Given the description of an element on the screen output the (x, y) to click on. 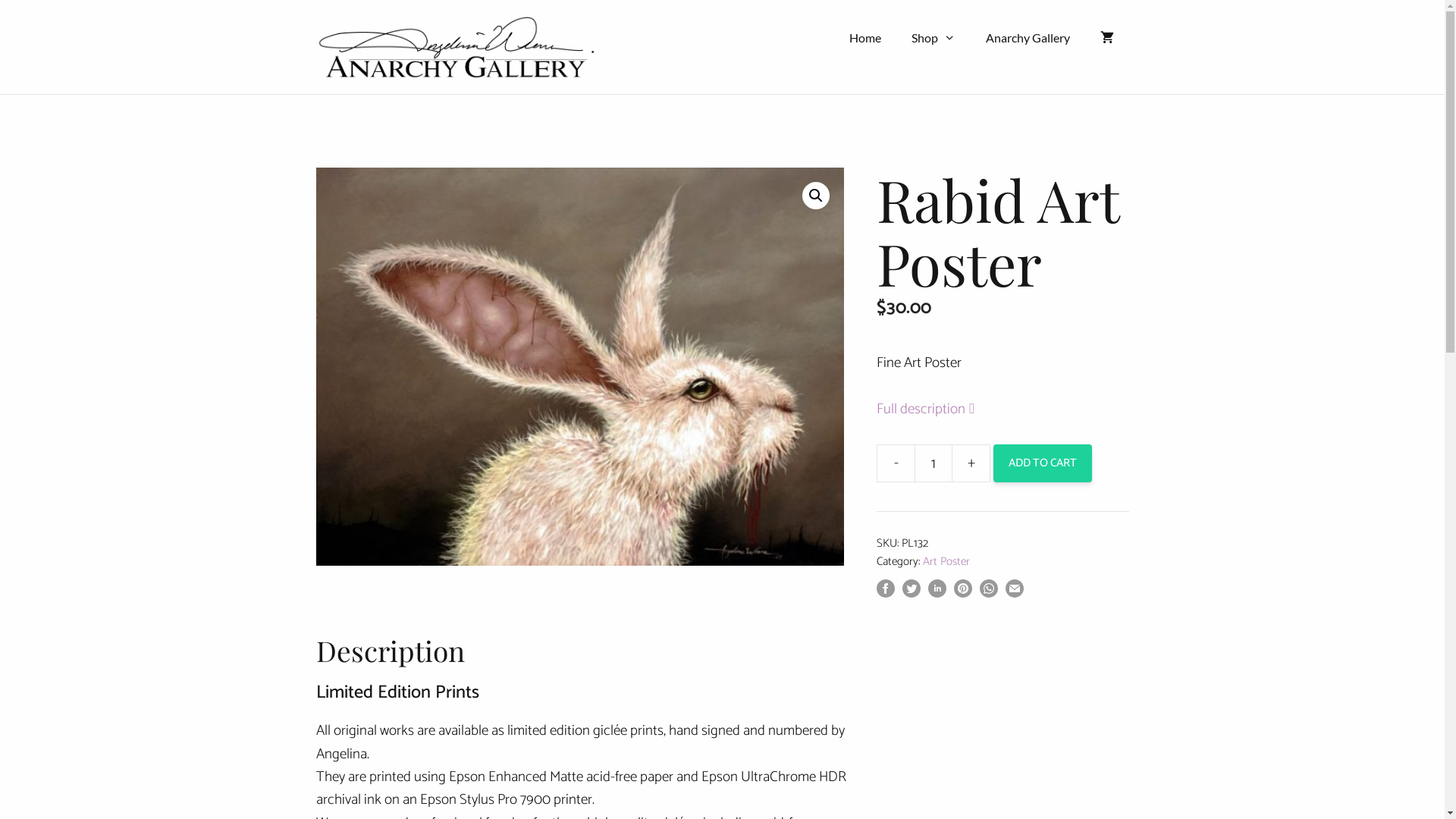
Tweet this post! Element type: hover (911, 593)
Share this post! Element type: hover (988, 593)
Home Element type: text (865, 37)
ADD TO CART Element type: text (1042, 463)
- Element type: text (895, 463)
Share this post! Element type: hover (885, 593)
Full description Element type: text (940, 408)
Email this post! Element type: hover (1014, 593)
Shop Element type: text (933, 37)
Rabid-670W-4.jpg Element type: hover (579, 366)
Anarchy Gallery Element type: text (1027, 37)
Share this post! Element type: hover (937, 593)
Pin this post! Element type: hover (962, 593)
+ Element type: text (971, 463)
View your shopping cart Element type: hover (1106, 37)
Art Poster Element type: text (945, 561)
